Given the description of an element on the screen output the (x, y) to click on. 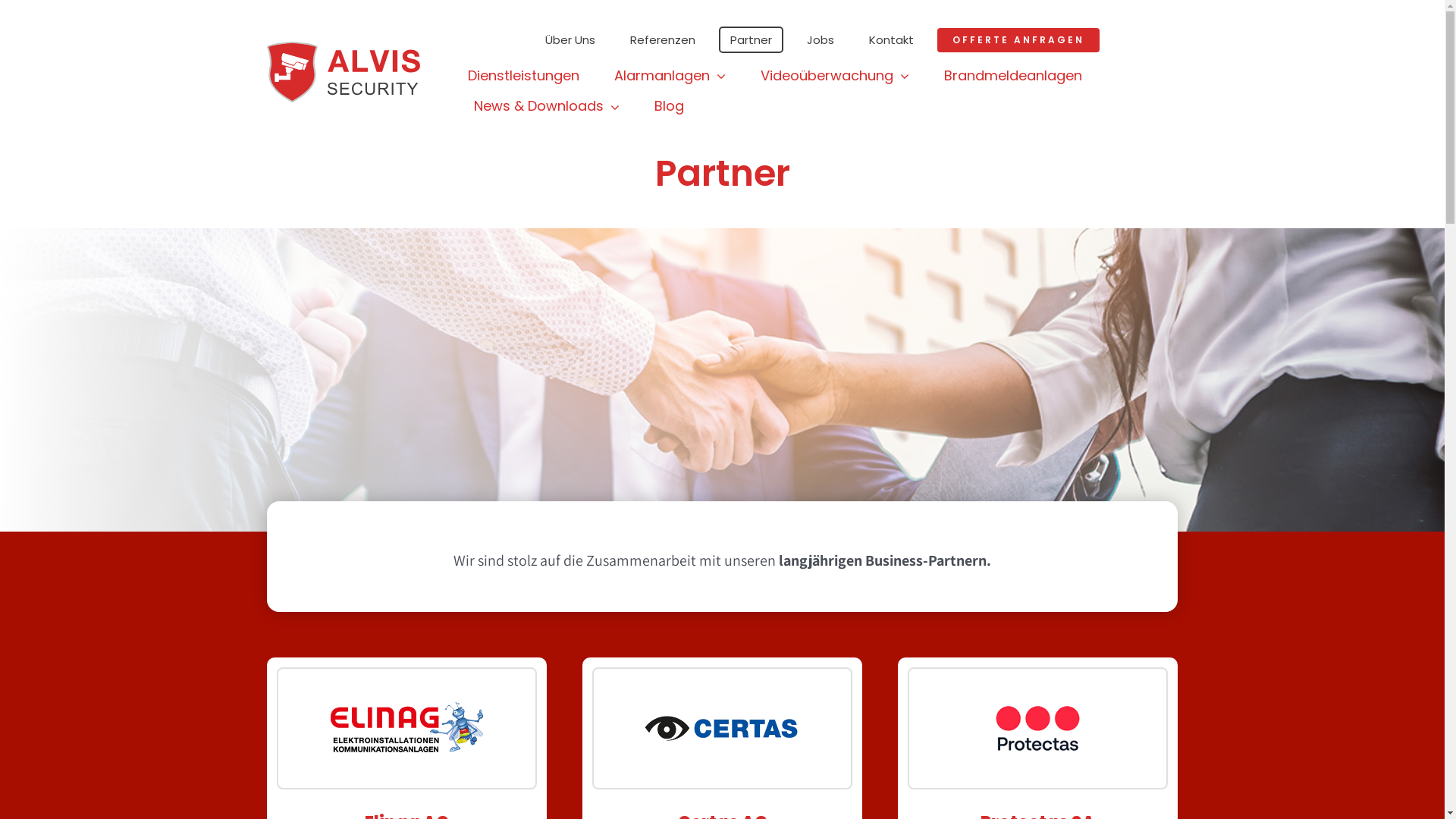
Certas Element type: hover (721, 727)
Referenzen Element type: text (662, 39)
OFFERTE ANFRAGEN Element type: text (1018, 39)
Blog Element type: text (669, 106)
Kontakt Element type: text (891, 39)
News & Downloads Element type: text (546, 106)
Protectas Element type: hover (1037, 727)
Brandmeldeanlagen Element type: text (1012, 75)
Partner Element type: text (750, 39)
Alarmanlagen Element type: text (669, 75)
Dienstleistungen Element type: text (523, 75)
Jobs Element type: text (820, 39)
